Given the description of an element on the screen output the (x, y) to click on. 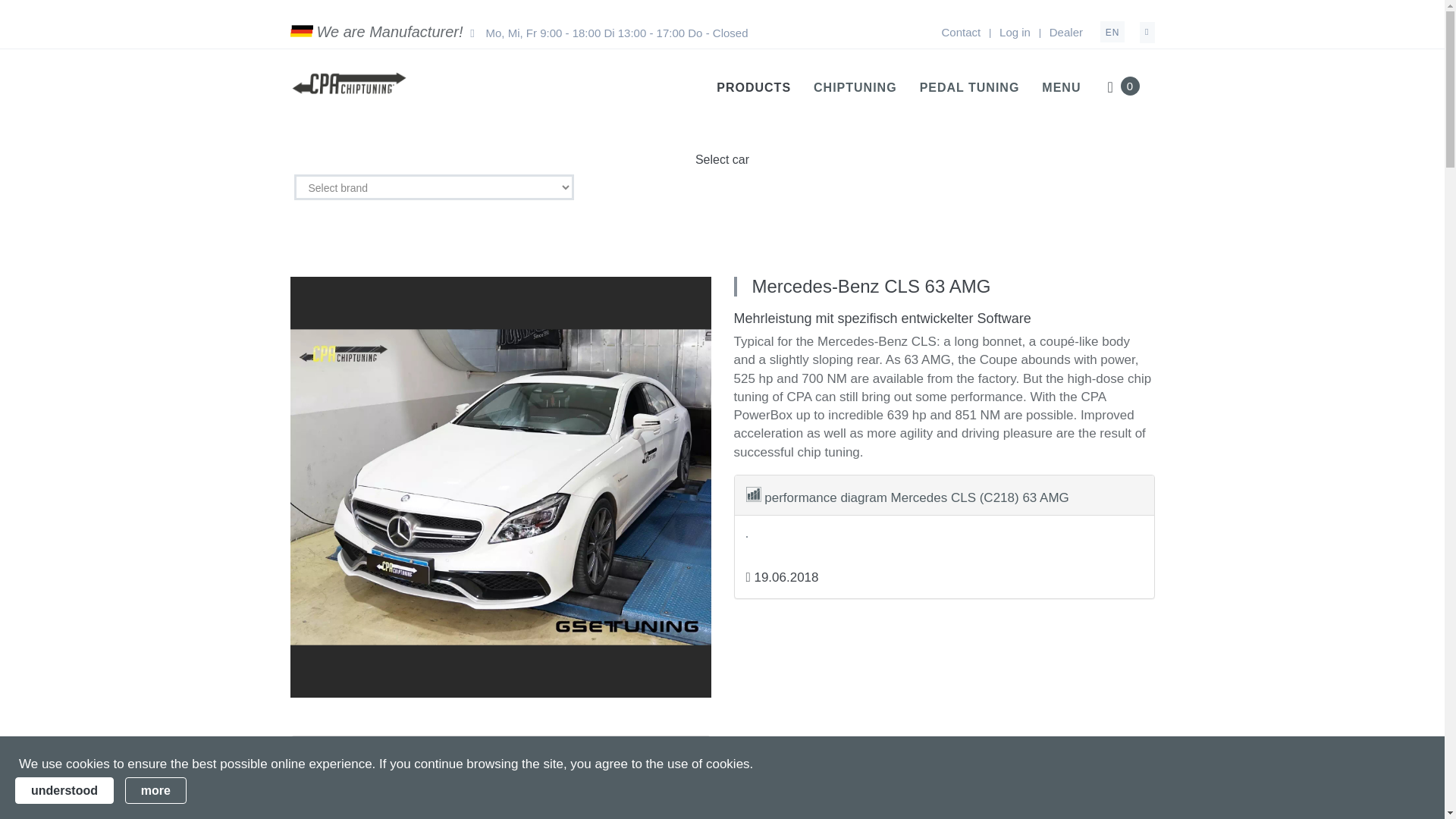
PRODUCTS (753, 87)
Log in (1014, 31)
Motortuning: Dealer (1066, 31)
Motortuning: Contact (959, 31)
Chiptuning: Log in (1014, 31)
EN (1112, 31)
Contact (959, 31)
Dealer (1066, 31)
